Given the description of an element on the screen output the (x, y) to click on. 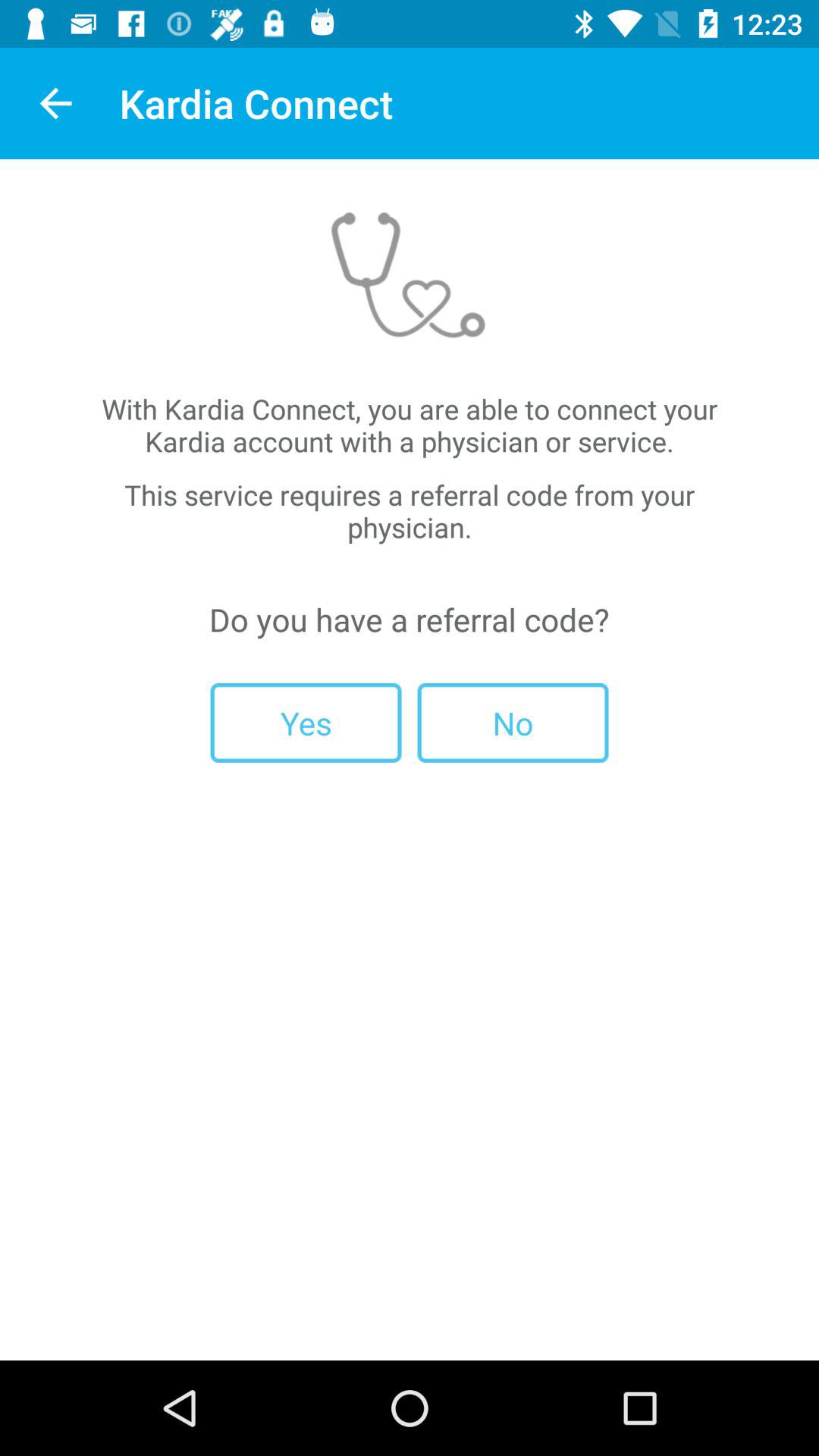
choose item next to yes (512, 722)
